Given the description of an element on the screen output the (x, y) to click on. 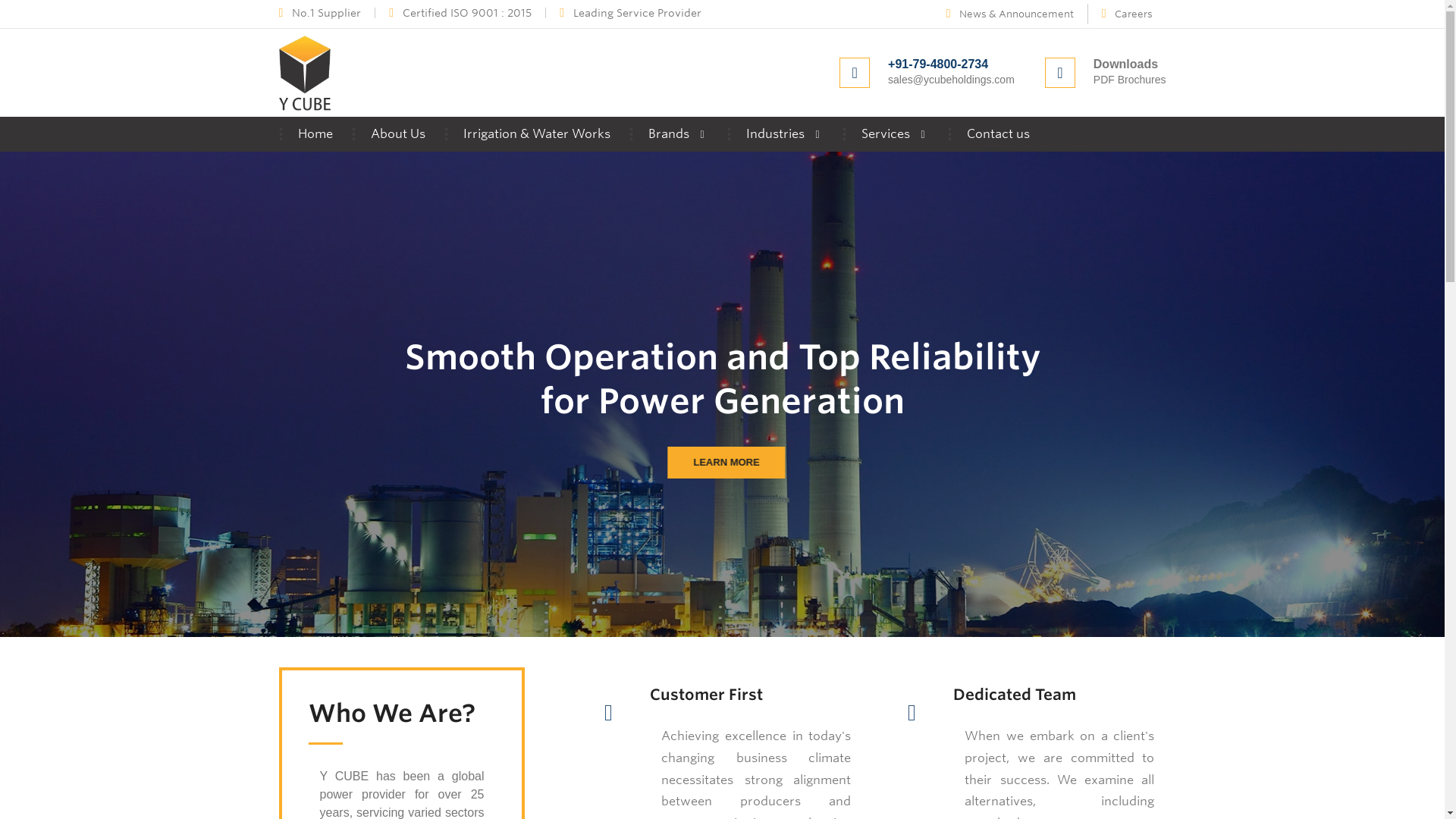
Downloads (1125, 63)
Industries (783, 134)
Contact us (997, 134)
Home (315, 134)
Services (894, 134)
Brands (677, 134)
Careers (1127, 13)
About Us (398, 134)
